Given the description of an element on the screen output the (x, y) to click on. 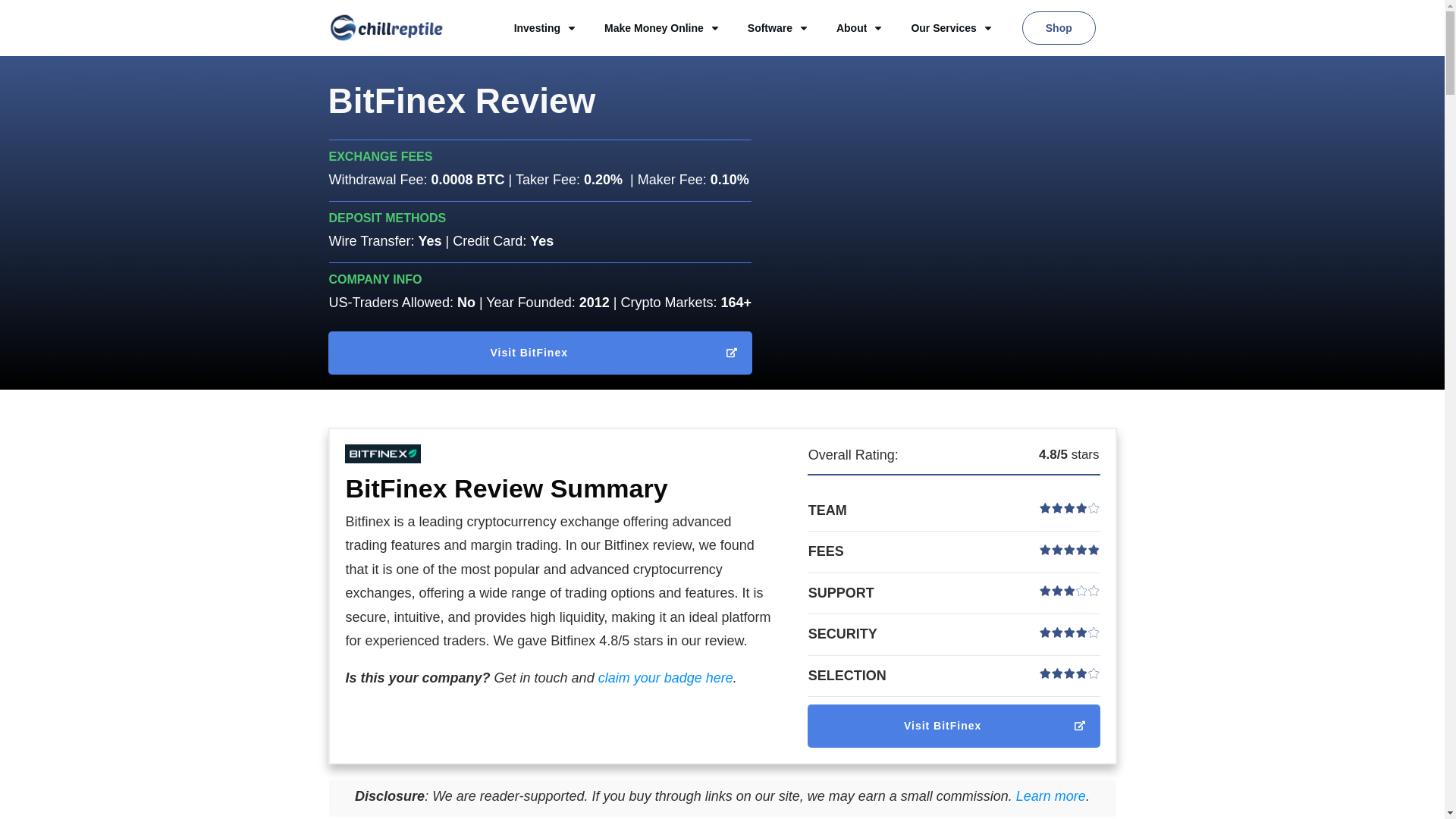
Investing (544, 27)
BitFinex Logo (381, 454)
primexbt (954, 725)
Make Money Online (662, 27)
About Chill Reptile (859, 27)
Make Money Online Articles (662, 27)
primexbt (539, 352)
BitFinex Review (461, 100)
